Given the description of an element on the screen output the (x, y) to click on. 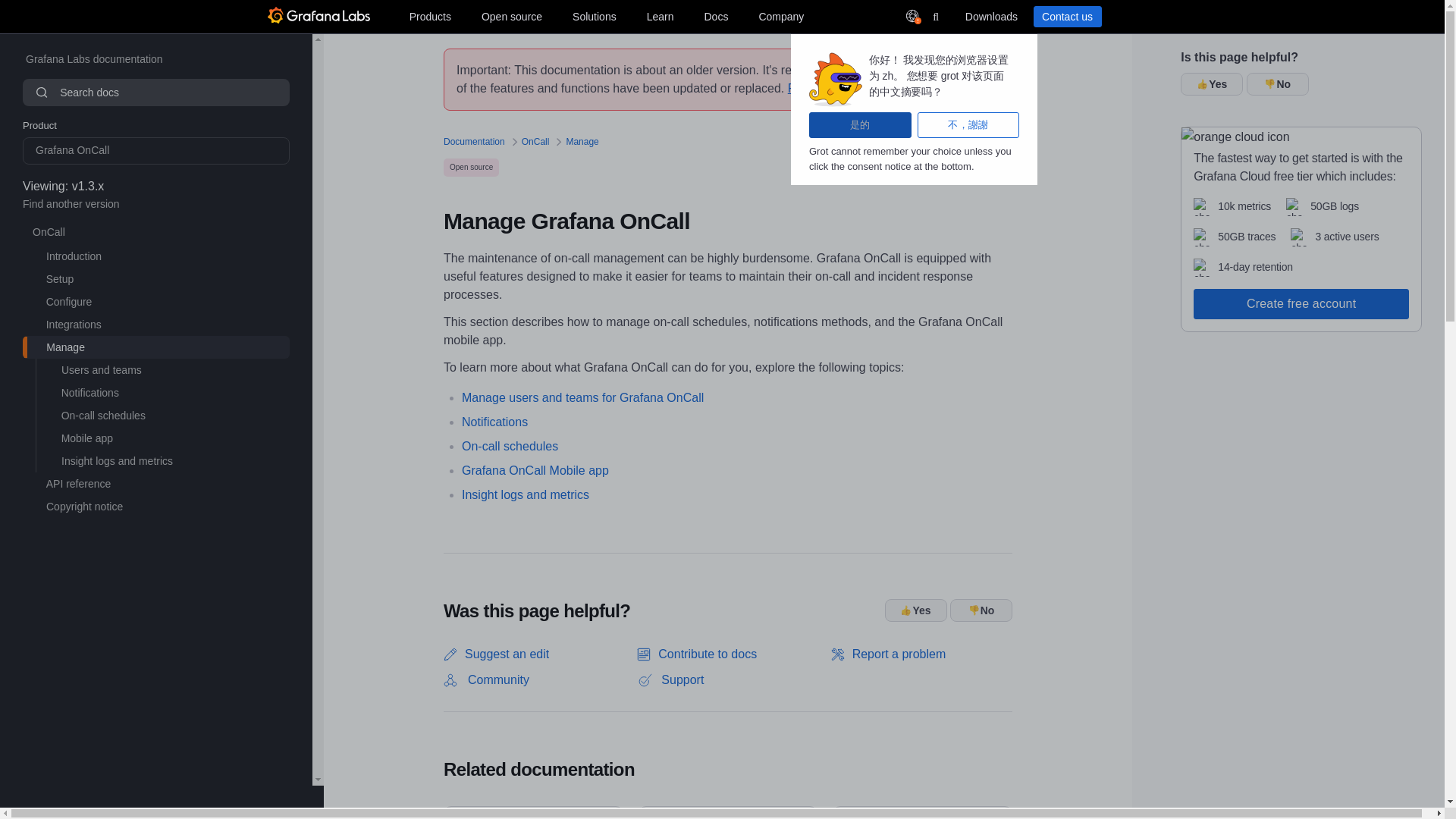
Downloads (990, 16)
Company (780, 16)
Open source (512, 16)
Docs (715, 16)
Solutions (594, 16)
Products (429, 16)
Learn (660, 16)
Contact us (1066, 16)
